Given the description of an element on the screen output the (x, y) to click on. 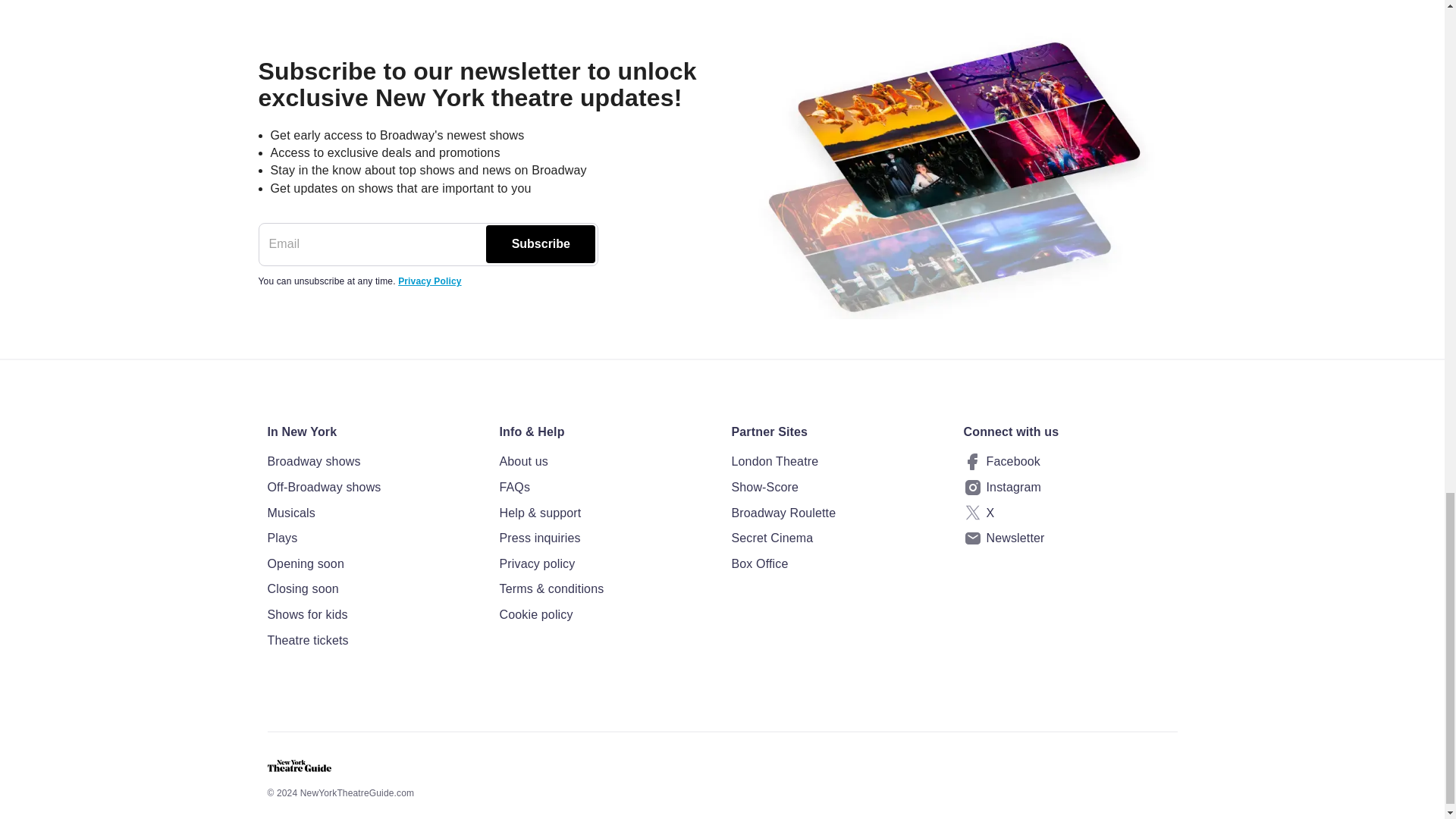
Musicals (373, 513)
Press inquiries (606, 537)
Theatre tickets (373, 640)
Cookie policy (606, 614)
Show-Score (837, 487)
London Theatre (837, 461)
FAQs (606, 487)
Broadway shows (373, 461)
Closing soon (373, 588)
Shows for kids (373, 614)
Secret Cinema (837, 537)
About us (606, 461)
Plays (373, 537)
Off-Broadway shows (373, 487)
Opening soon (373, 564)
